Given the description of an element on the screen output the (x, y) to click on. 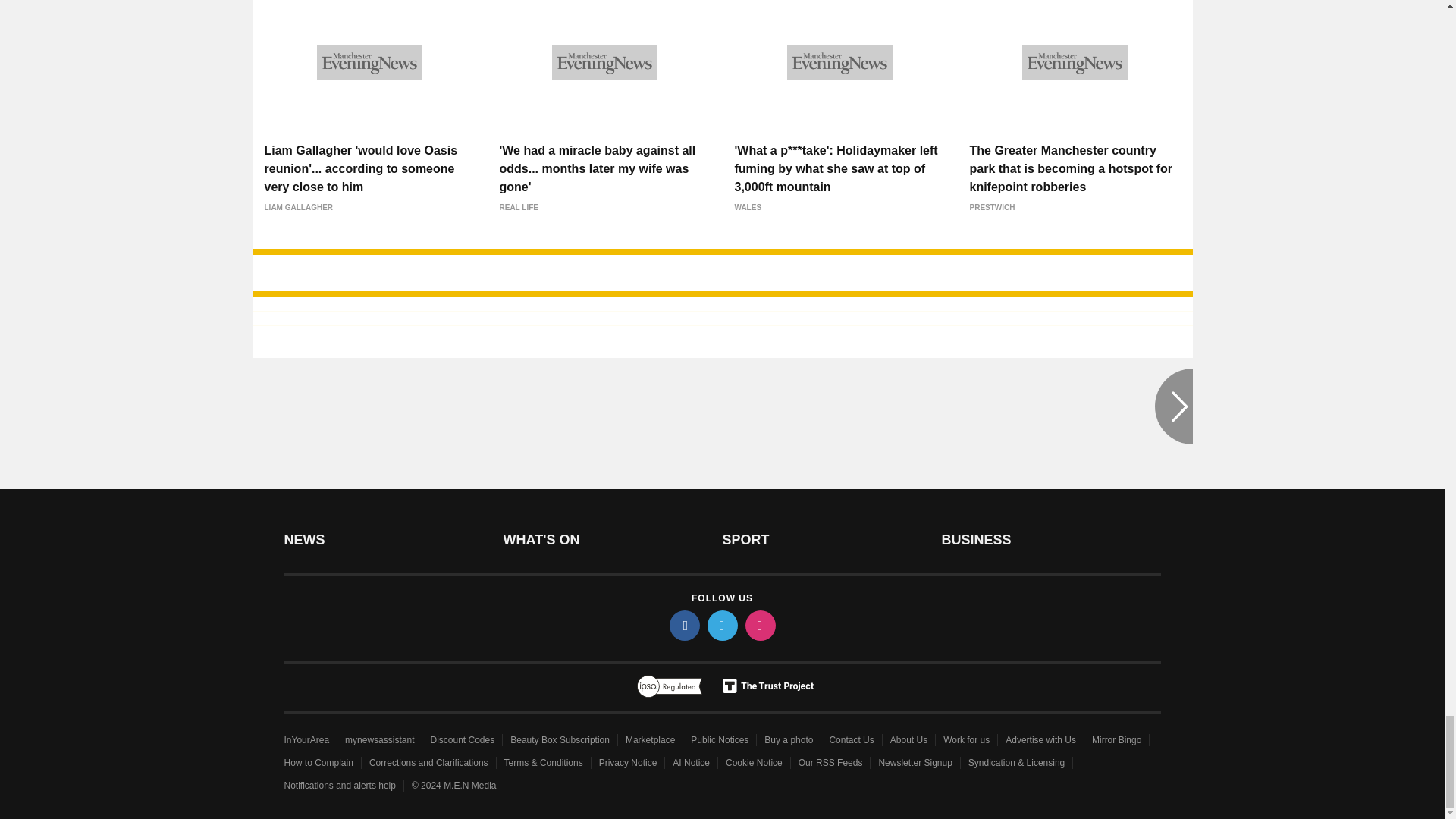
instagram (759, 625)
twitter (721, 625)
facebook (683, 625)
